Given the description of an element on the screen output the (x, y) to click on. 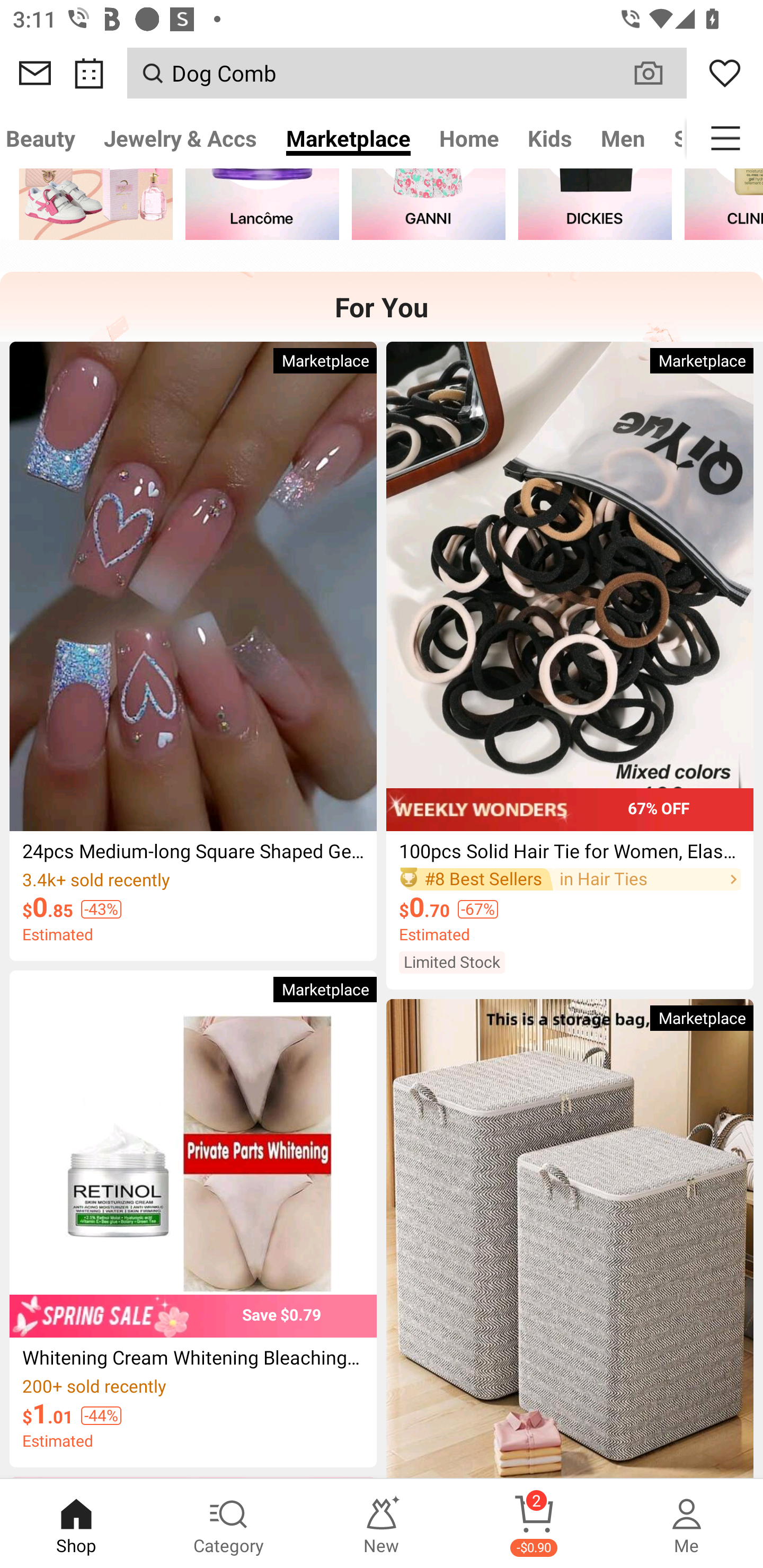
Wishlist (724, 72)
VISUAL SEARCH (657, 72)
Beauty (44, 137)
Jewelry & Accs (180, 137)
Marketplace (347, 137)
Home (468, 137)
Kids (549, 137)
Men (622, 137)
#8 Best Sellers in Hair Ties (569, 879)
Category (228, 1523)
New (381, 1523)
Cart 2 -$0.90 (533, 1523)
Me (686, 1523)
